Given the description of an element on the screen output the (x, y) to click on. 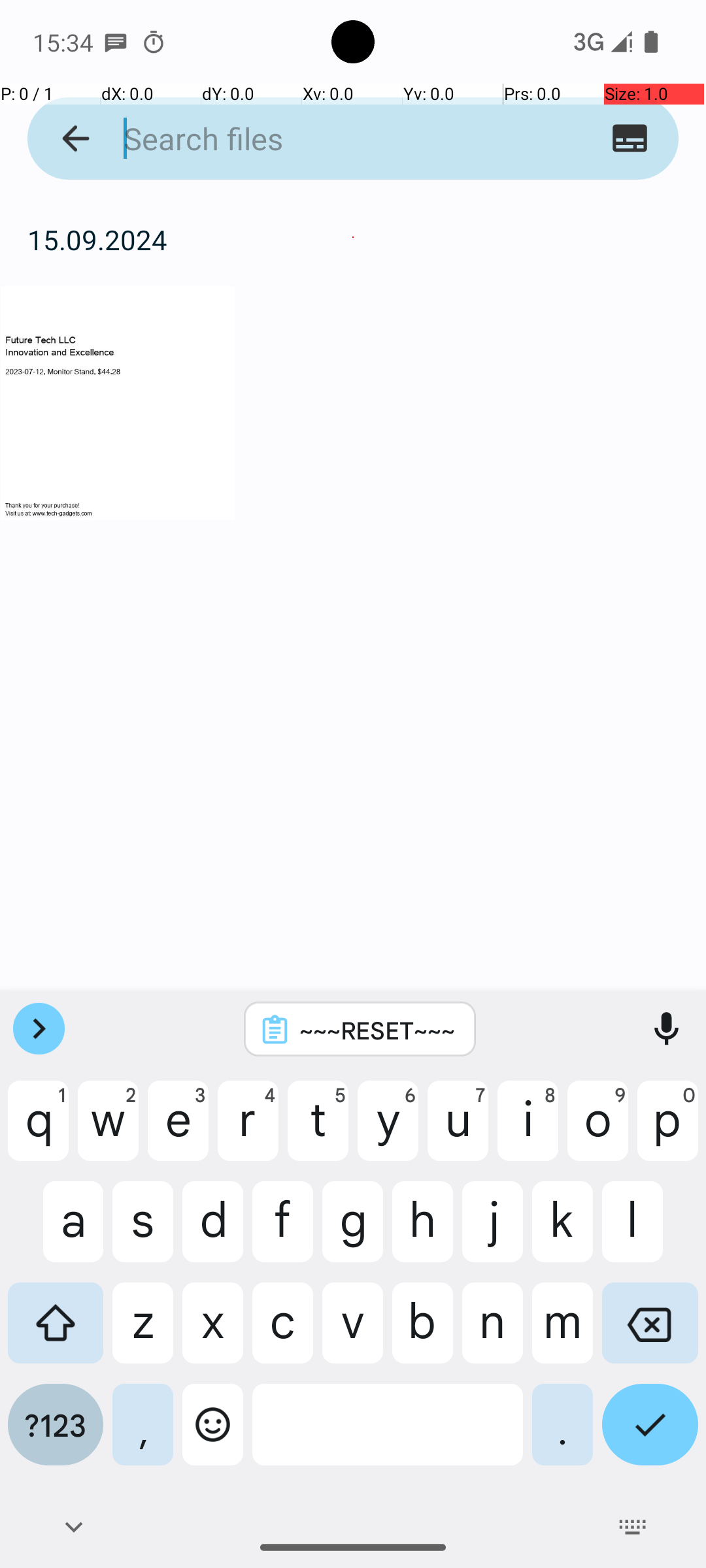
Search files Element type: android.widget.EditText (328, 138)
15.09.2024 Element type: android.widget.TextView (353, 239)
